Given the description of an element on the screen output the (x, y) to click on. 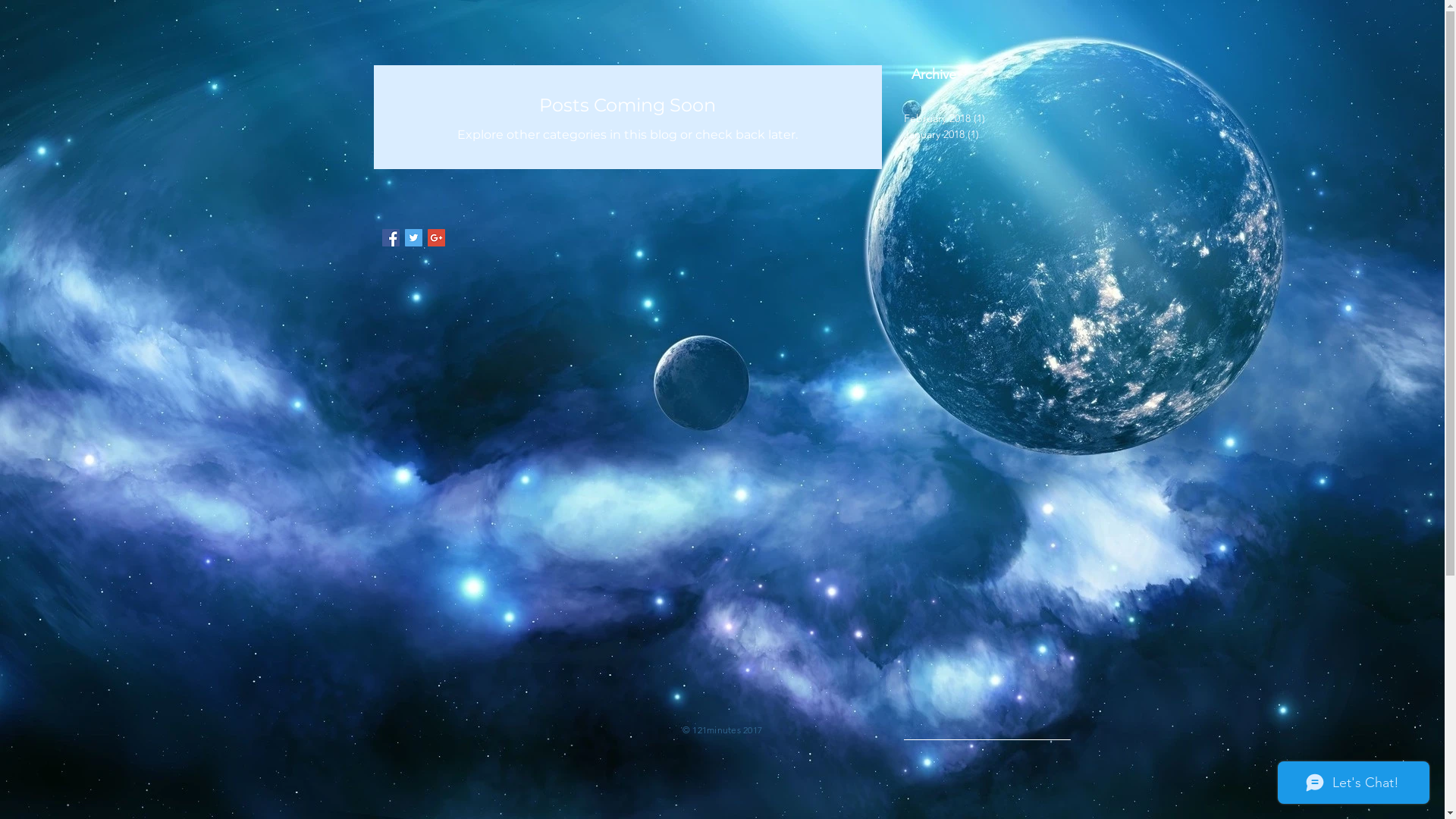
January 2018 (1) Element type: text (983, 134)
February 2018 (1) Element type: text (983, 118)
